Given the description of an element on the screen output the (x, y) to click on. 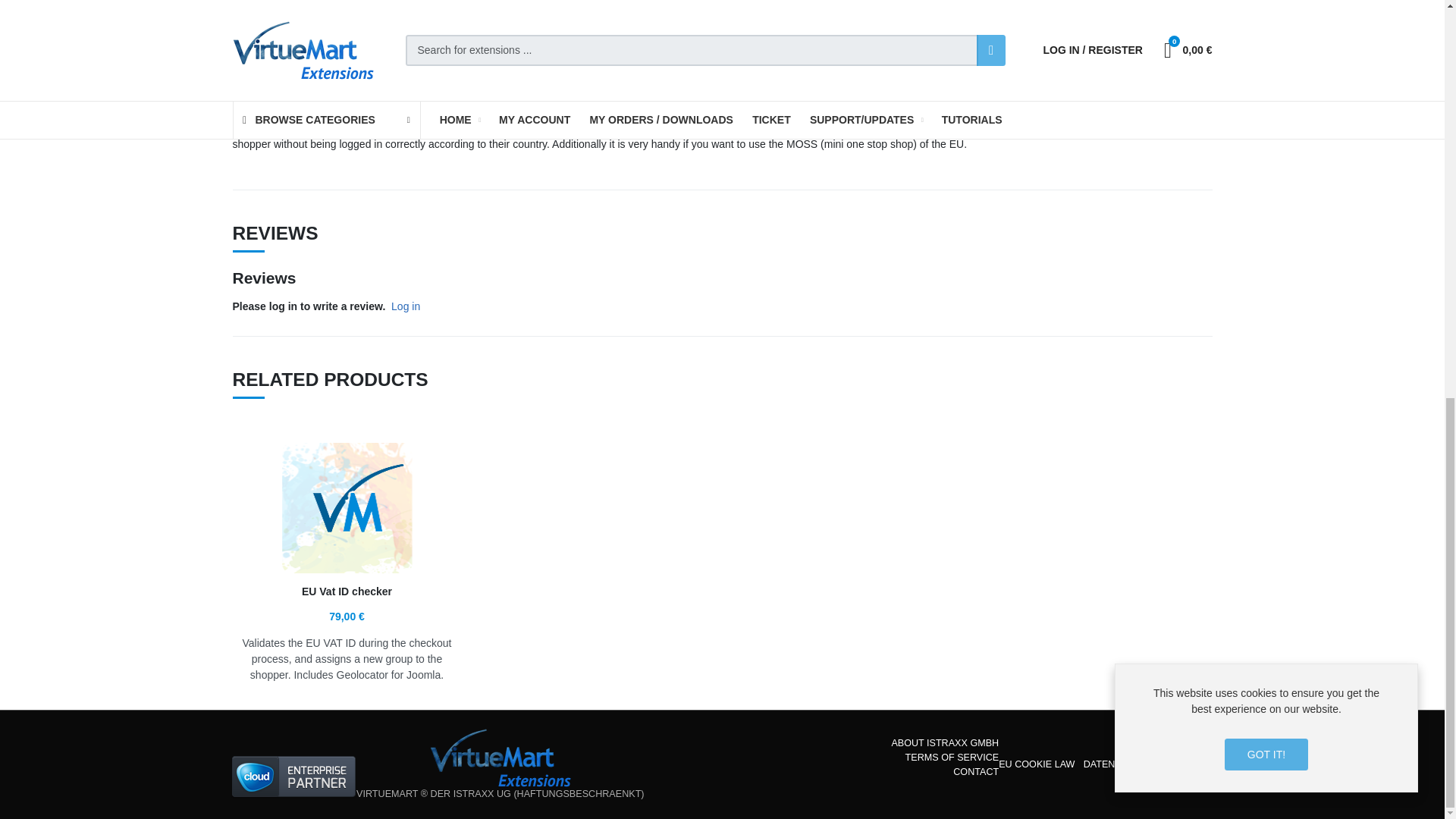
Your Joomla Hoster (293, 775)
VirtueMart 2 Extensions Home page (499, 757)
